Given the description of an element on the screen output the (x, y) to click on. 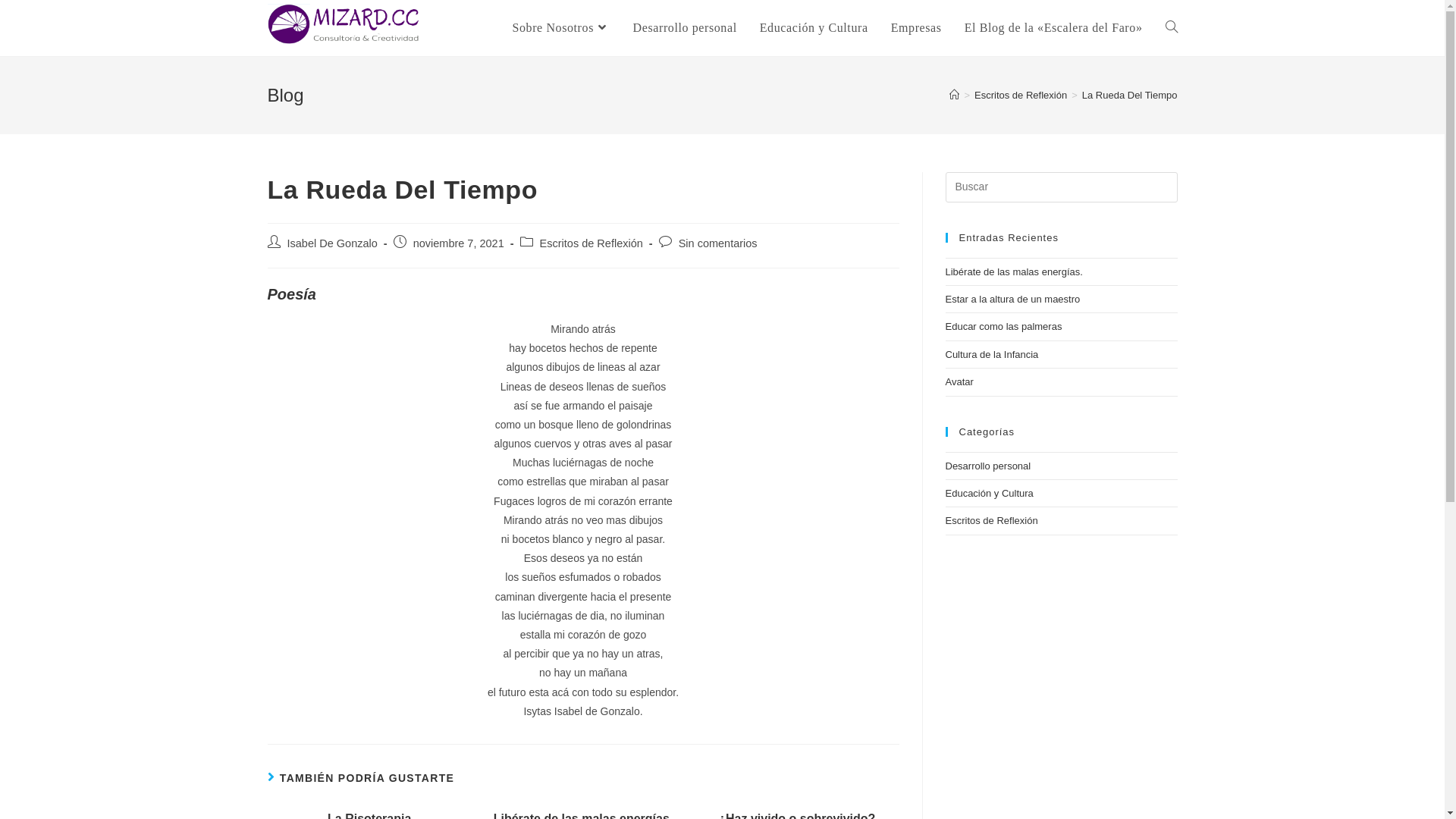
Educar como las palmeras Element type: text (1002, 326)
Avatar Element type: text (958, 381)
Desarrollo personal Element type: text (684, 28)
Sobre Nosotros Element type: text (560, 28)
Estar a la altura de un maestro Element type: text (1011, 298)
Isabel De Gonzalo Element type: text (331, 243)
Empresas Element type: text (916, 28)
Desarrollo personal Element type: text (987, 465)
La Rueda Del Tiempo Element type: text (1129, 94)
Cultura de la Infancia Element type: text (991, 354)
Sin comentarios Element type: text (717, 243)
